Given the description of an element on the screen output the (x, y) to click on. 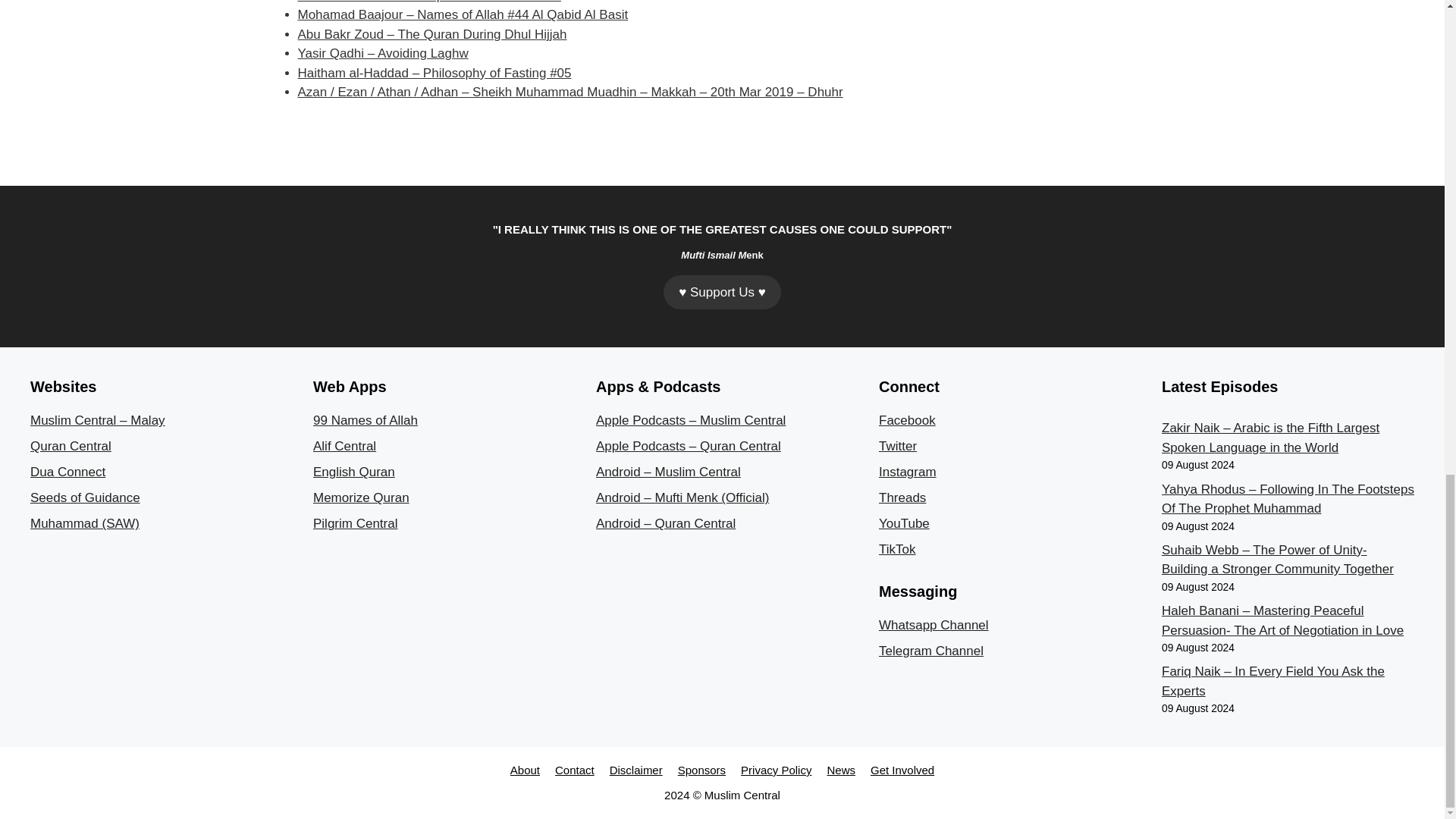
Quran Central (71, 445)
Alif Central (344, 445)
Dua Connect (67, 472)
English Quran (353, 472)
99 Names of Allah (365, 420)
Seeds of Guidance (84, 497)
Memorize Quran (361, 497)
